Given the description of an element on the screen output the (x, y) to click on. 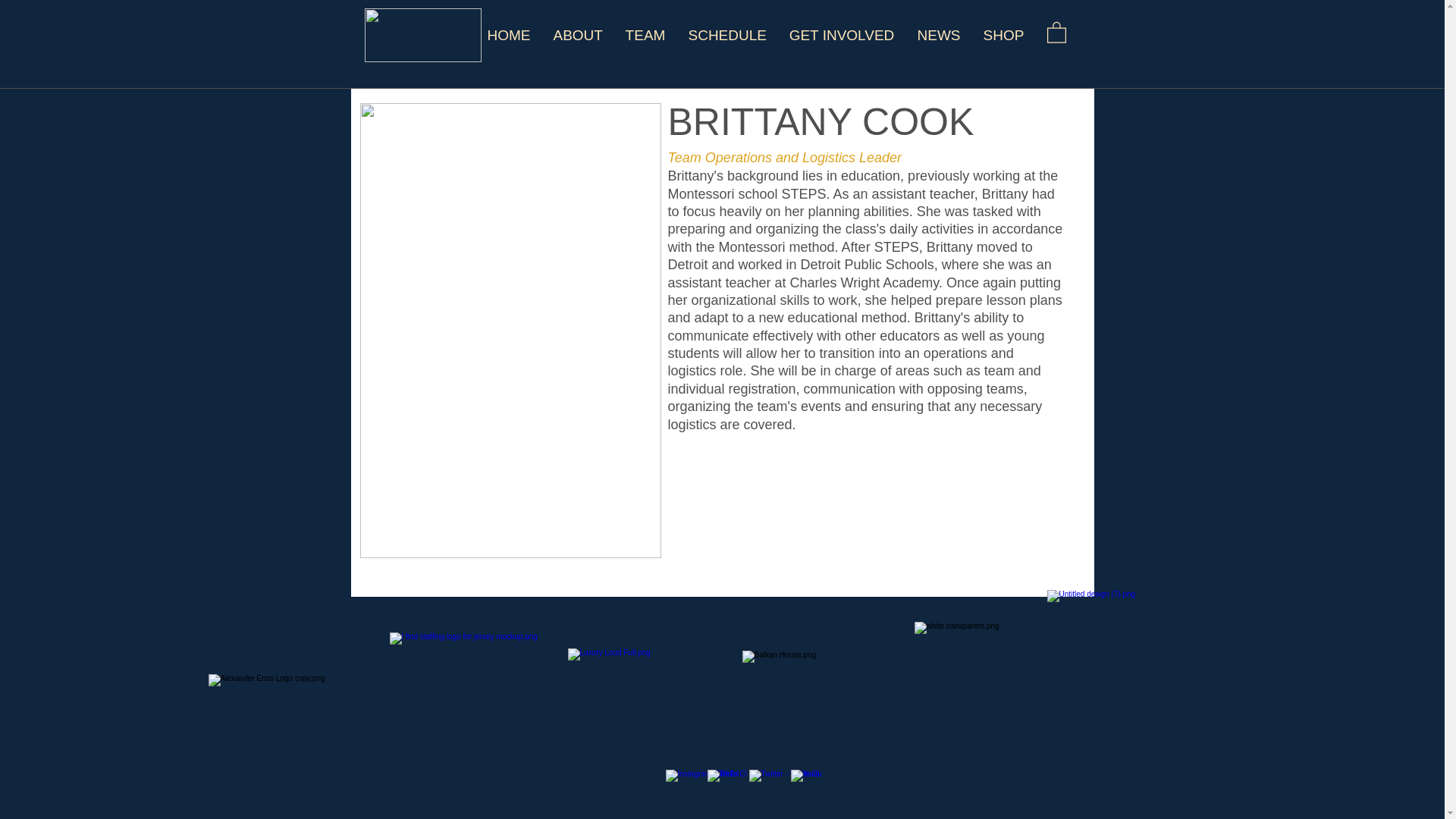
1Asset 3lf.png (422, 35)
ABOUT (576, 35)
HOME (508, 35)
SCHEDULE (727, 35)
NEWS (938, 35)
SHOP (1003, 35)
GET INVOLVED (841, 35)
TEAM (645, 35)
